Given the description of an element on the screen output the (x, y) to click on. 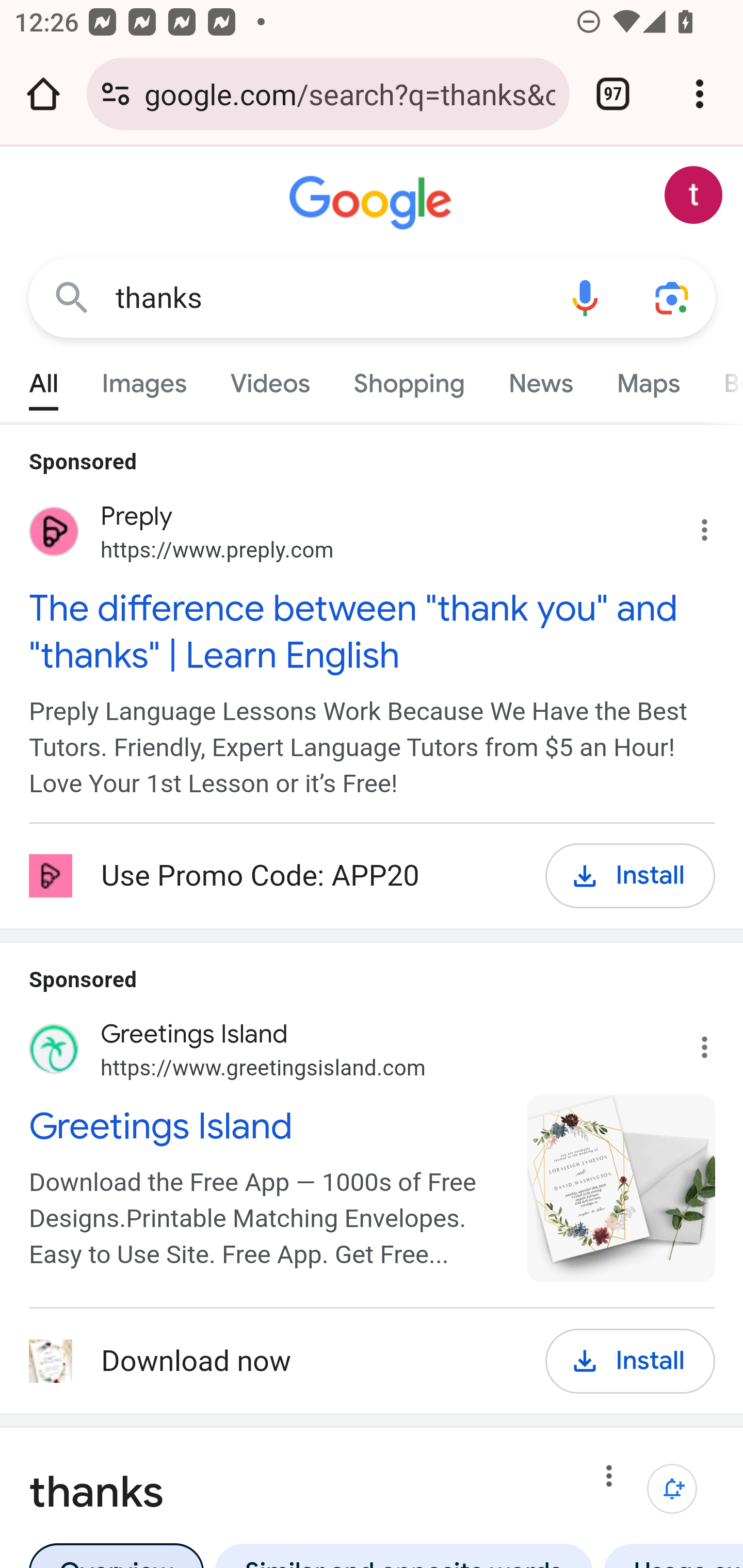
Open the home page (43, 93)
Connection is secure (115, 93)
Switch or close tabs (612, 93)
Customize and control Google Chrome (699, 93)
Google (372, 203)
Google Search (71, 296)
Search using your camera or photos (672, 296)
thanks (328, 297)
Images (144, 378)
Videos (270, 378)
Shopping (408, 378)
News (540, 378)
Maps (647, 378)
Why this ad? (714, 525)
Install (630, 876)
Why this ad? (714, 1042)
Image from greetingsisland.com (621, 1188)
Greetings Island (266, 1126)
Download now JAAAAAElFTkSuQmCC Download now (273, 1361)
Install (630, 1360)
Get notifications about Word of the day (672, 1489)
More options (609, 1478)
